Given the description of an element on the screen output the (x, y) to click on. 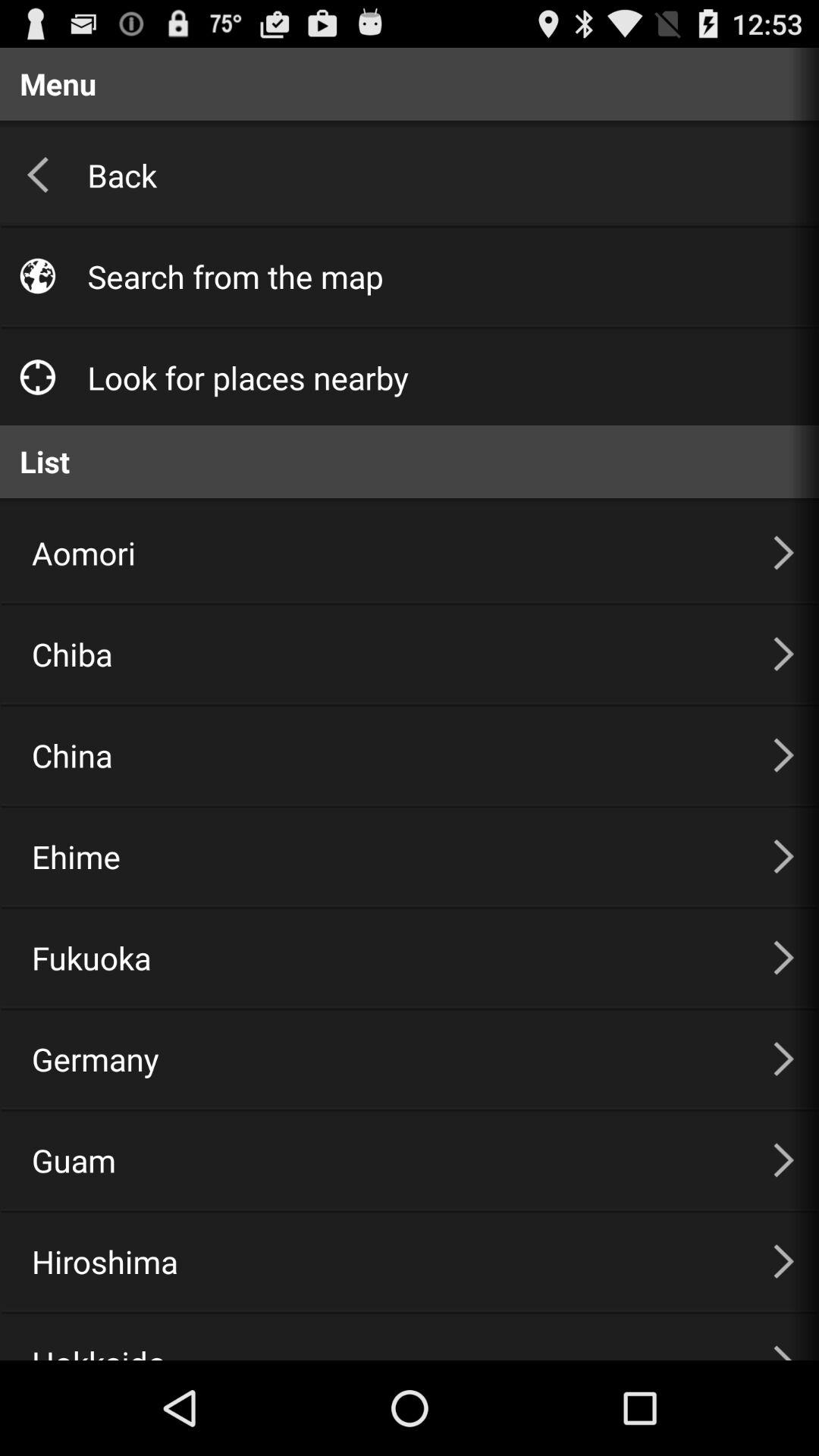
launch the item below ehime (384, 957)
